Given the description of an element on the screen output the (x, y) to click on. 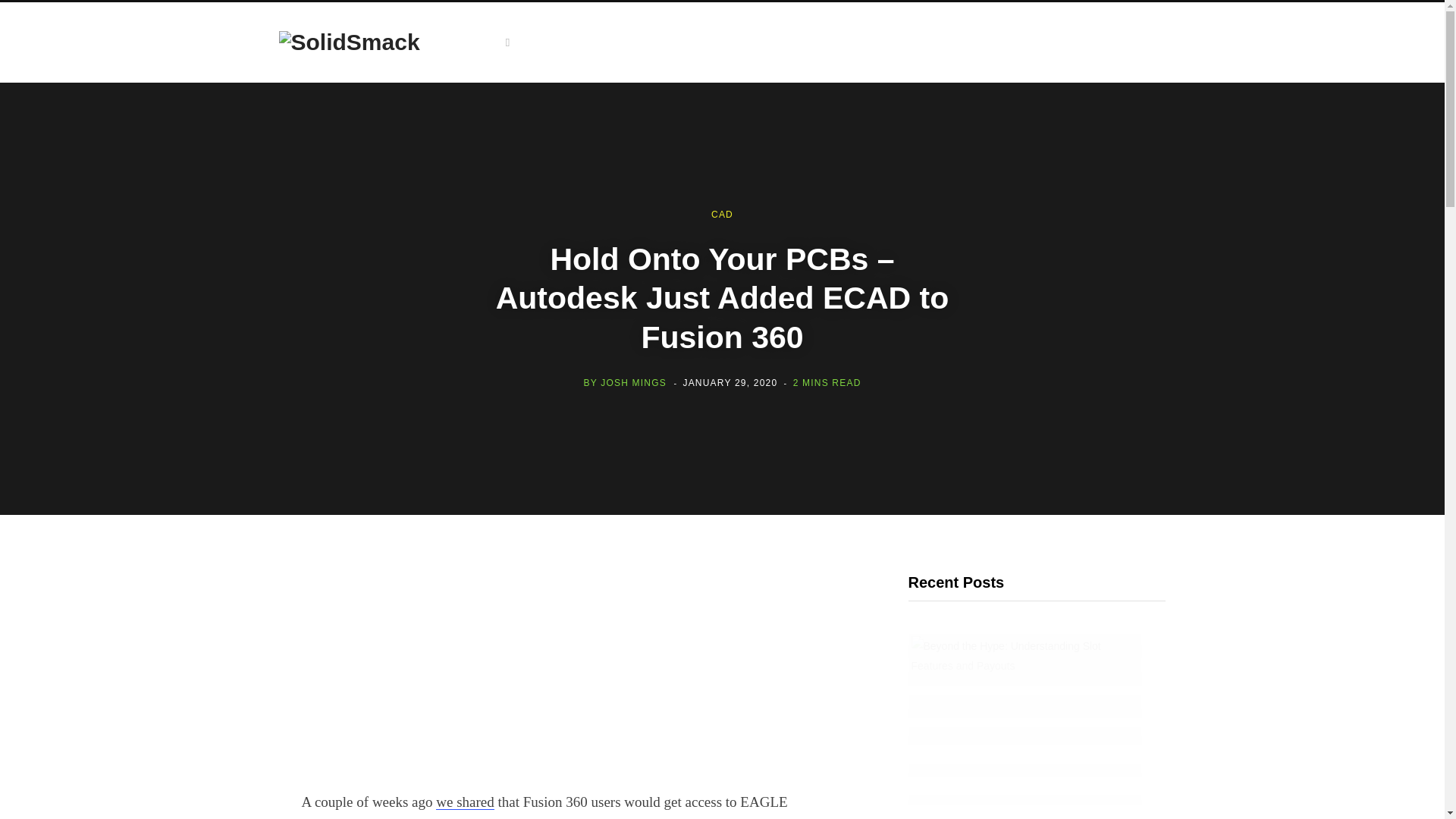
JOSH MINGS (632, 382)
SolidSmack (349, 42)
Posts by Josh Mings (632, 382)
CAD (722, 214)
TOPICS (483, 41)
we shared (465, 801)
